Given the description of an element on the screen output the (x, y) to click on. 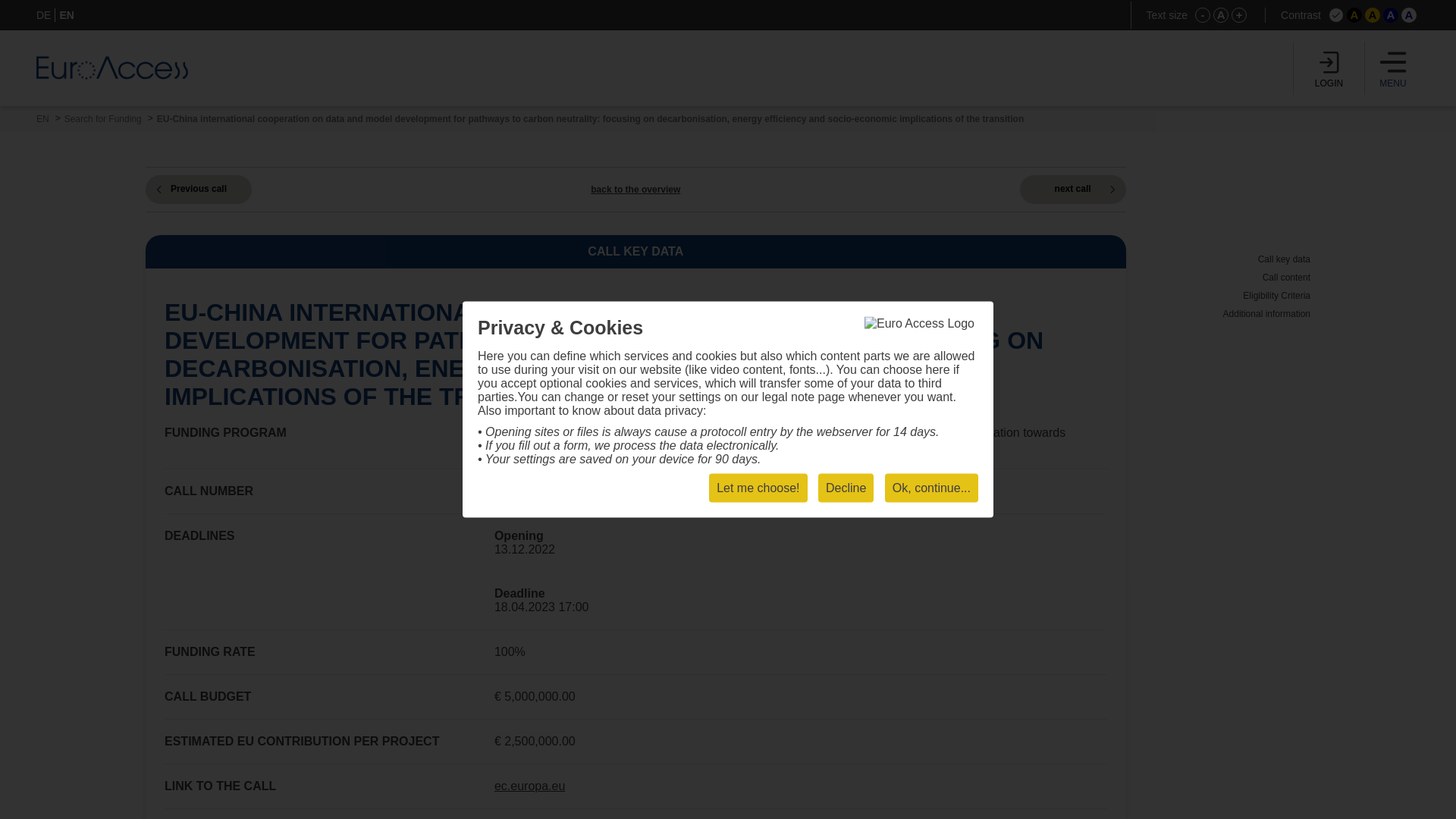
White on blue (1390, 14)
MENU (1393, 68)
A (1353, 14)
A (1372, 14)
EN (42, 118)
DE (43, 15)
Blue on white (1408, 14)
Black on yellow (1372, 14)
EN (66, 15)
Search for Funding (102, 118)
Zur Startseite (111, 67)
Search for Funding (102, 118)
EN (42, 118)
A (1390, 14)
Yellow on black (1353, 14)
